Given the description of an element on the screen output the (x, y) to click on. 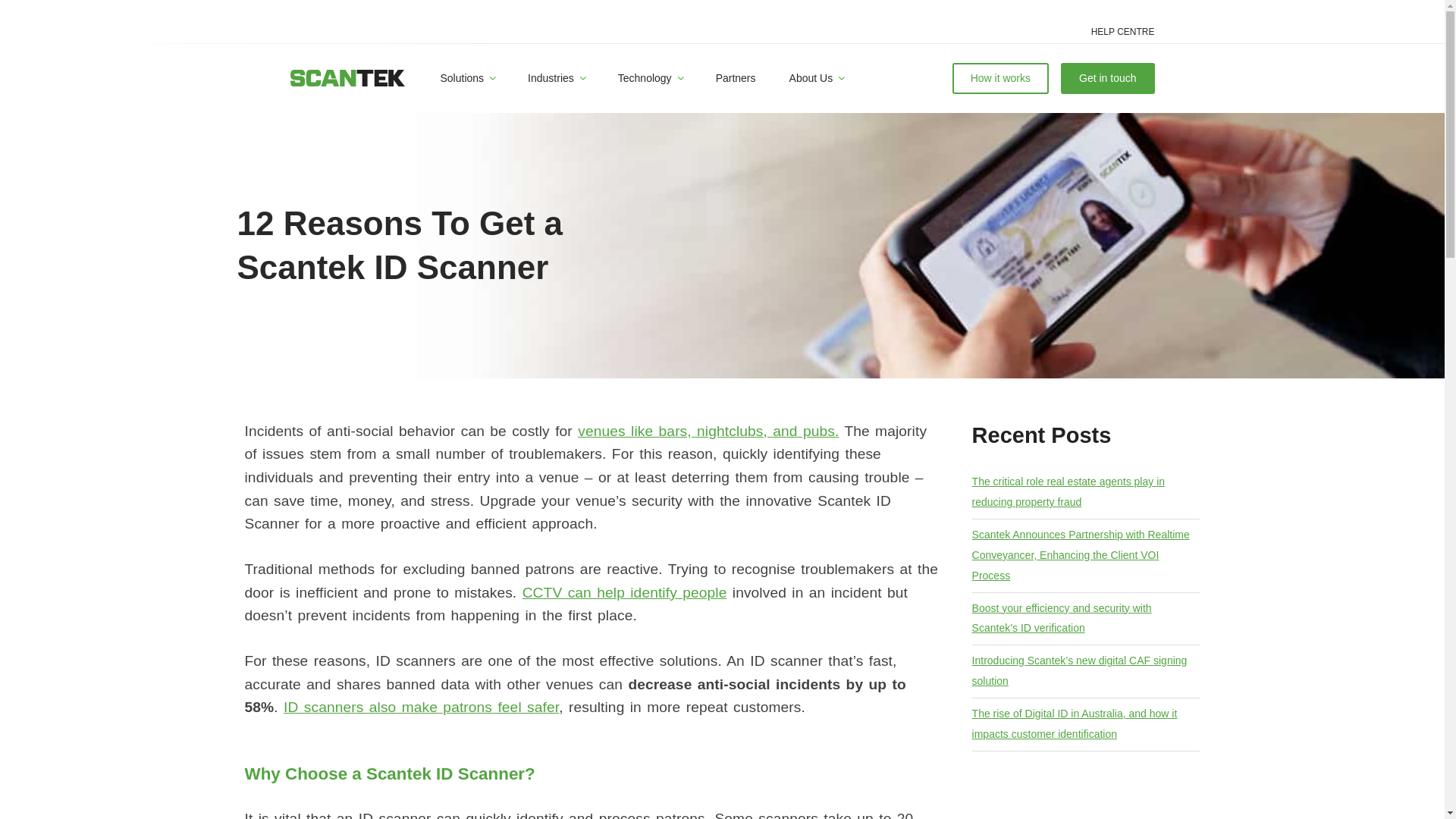
Technology (649, 78)
Industries (556, 78)
About Us (816, 78)
Solutions (467, 78)
HELP CENTRE (1122, 32)
Partners (735, 78)
